Given the description of an element on the screen output the (x, y) to click on. 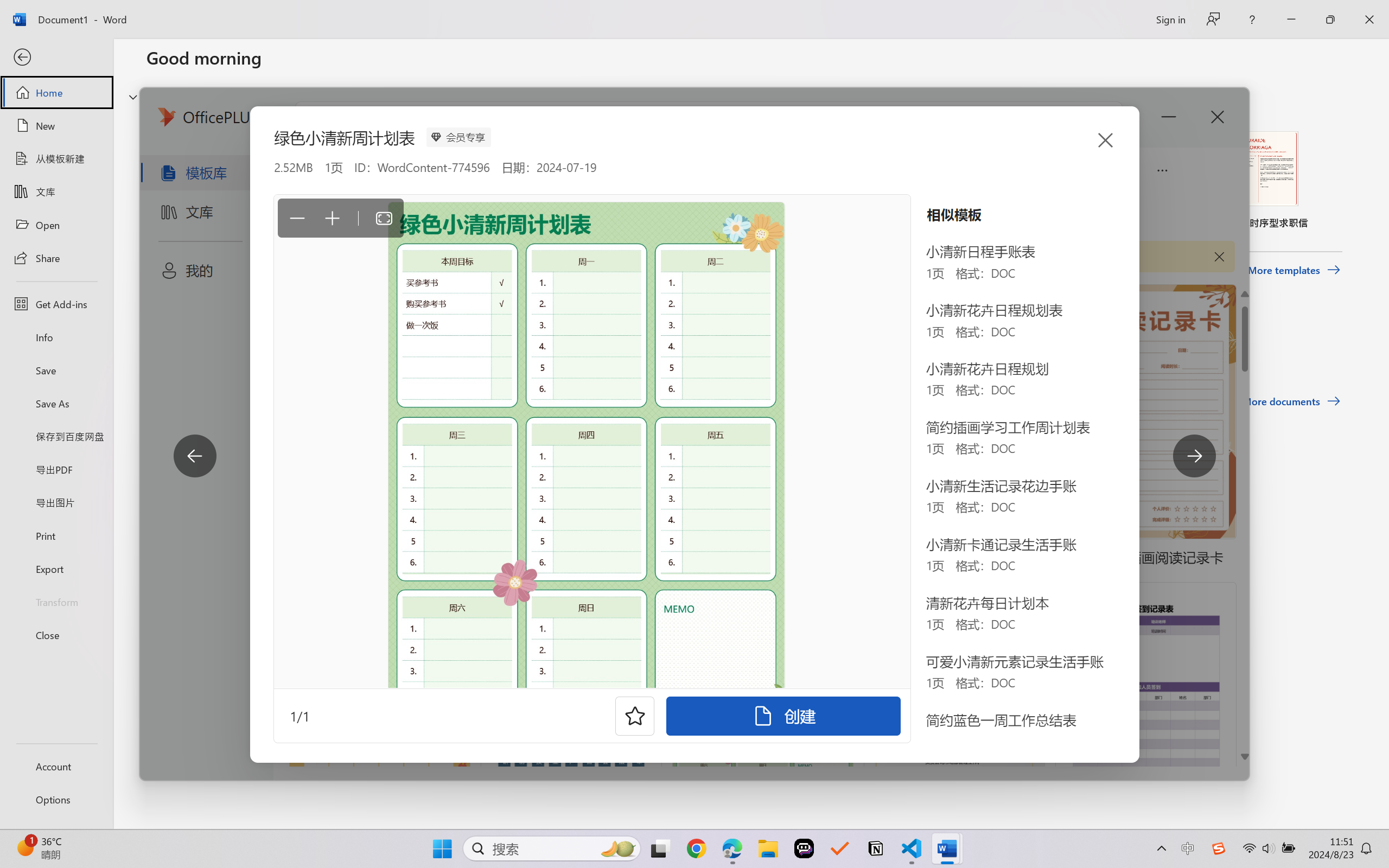
Blank document (219, 180)
Shared with Me (305, 345)
Print (56, 535)
Get Add-ins (56, 303)
Account (56, 765)
Sign in (1170, 18)
Transform (56, 601)
New (56, 125)
